Given the description of an element on the screen output the (x, y) to click on. 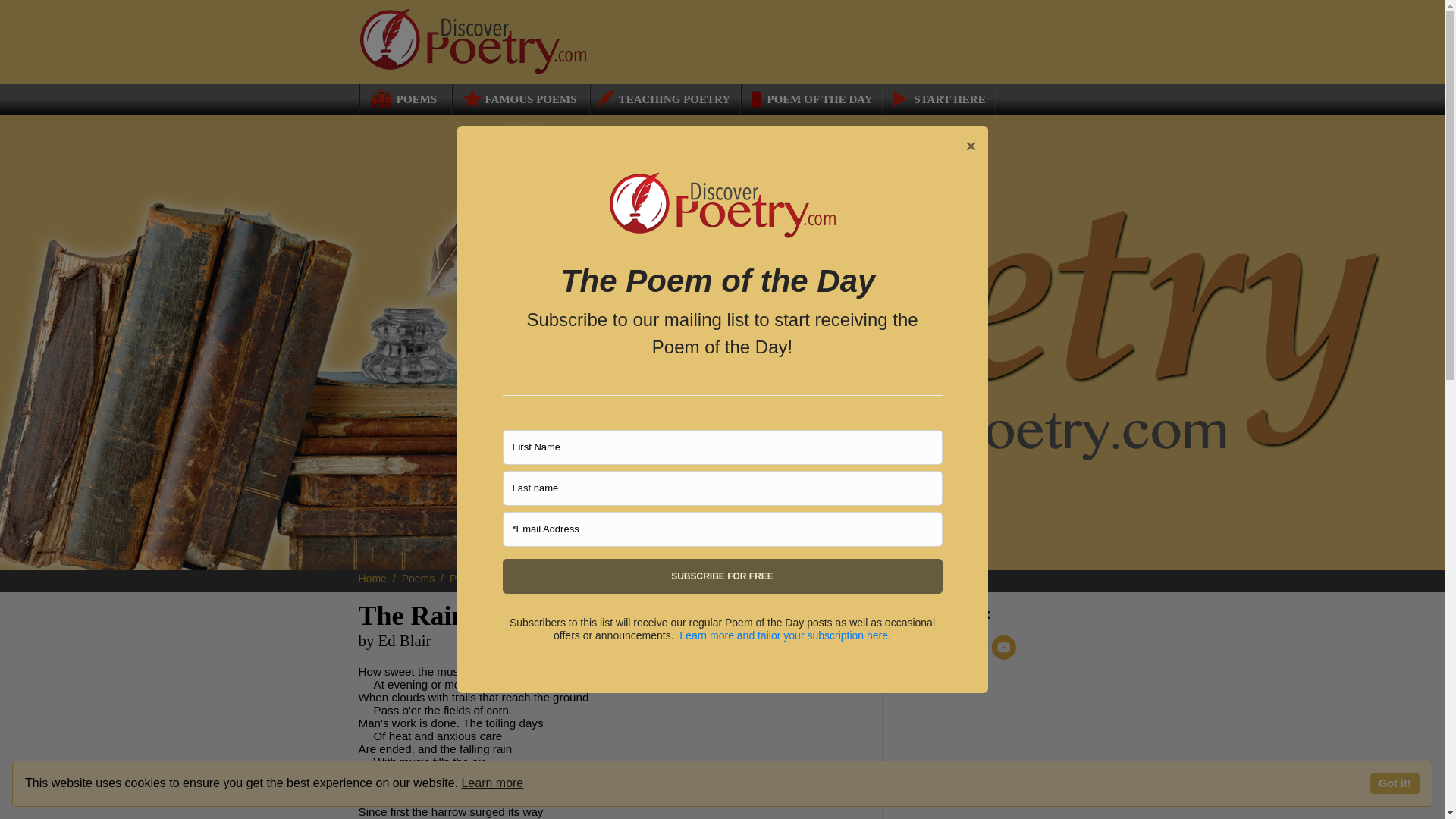
Ed Blair (516, 578)
Learn more (491, 782)
POEM OF THE DAY (811, 99)
Got it! (1394, 783)
Home (377, 578)
FAMOUS POEMS (519, 99)
POEMS (400, 99)
Poets (468, 578)
Poems (423, 578)
START HERE (938, 99)
TEACHING POETRY (660, 99)
